Given the description of an element on the screen output the (x, y) to click on. 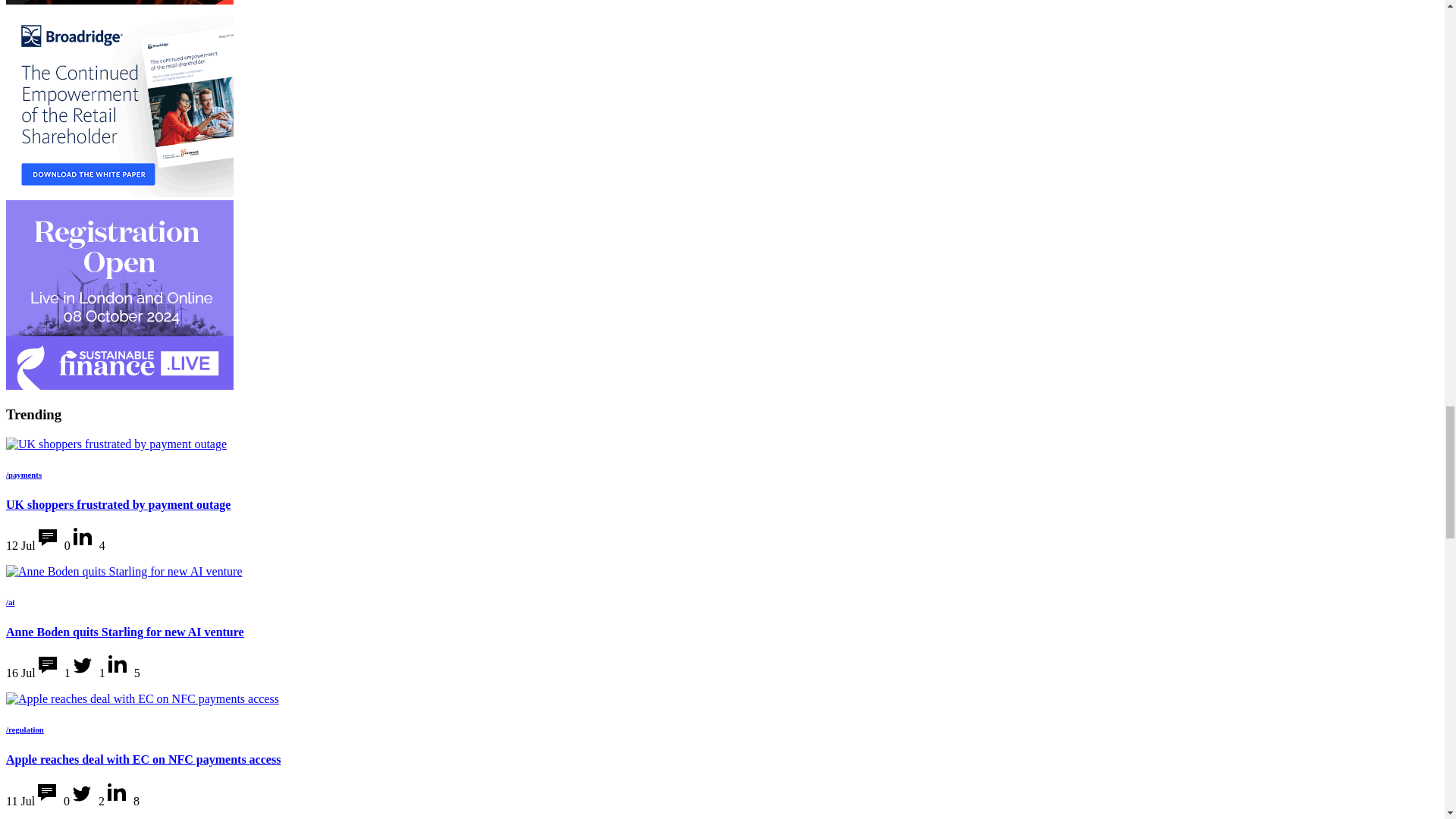
UK shoppers frustrated by payment outage (116, 444)
Anne Boden quits Starling for new AI venture (124, 571)
UK shoppers frustrated by payment outage (116, 443)
Apple reaches deal with EC on NFC payments access (142, 698)
Apple reaches deal with EC on NFC payments access (142, 698)
Anne Boden quits Starling for new AI venture (124, 571)
